Given the description of an element on the screen output the (x, y) to click on. 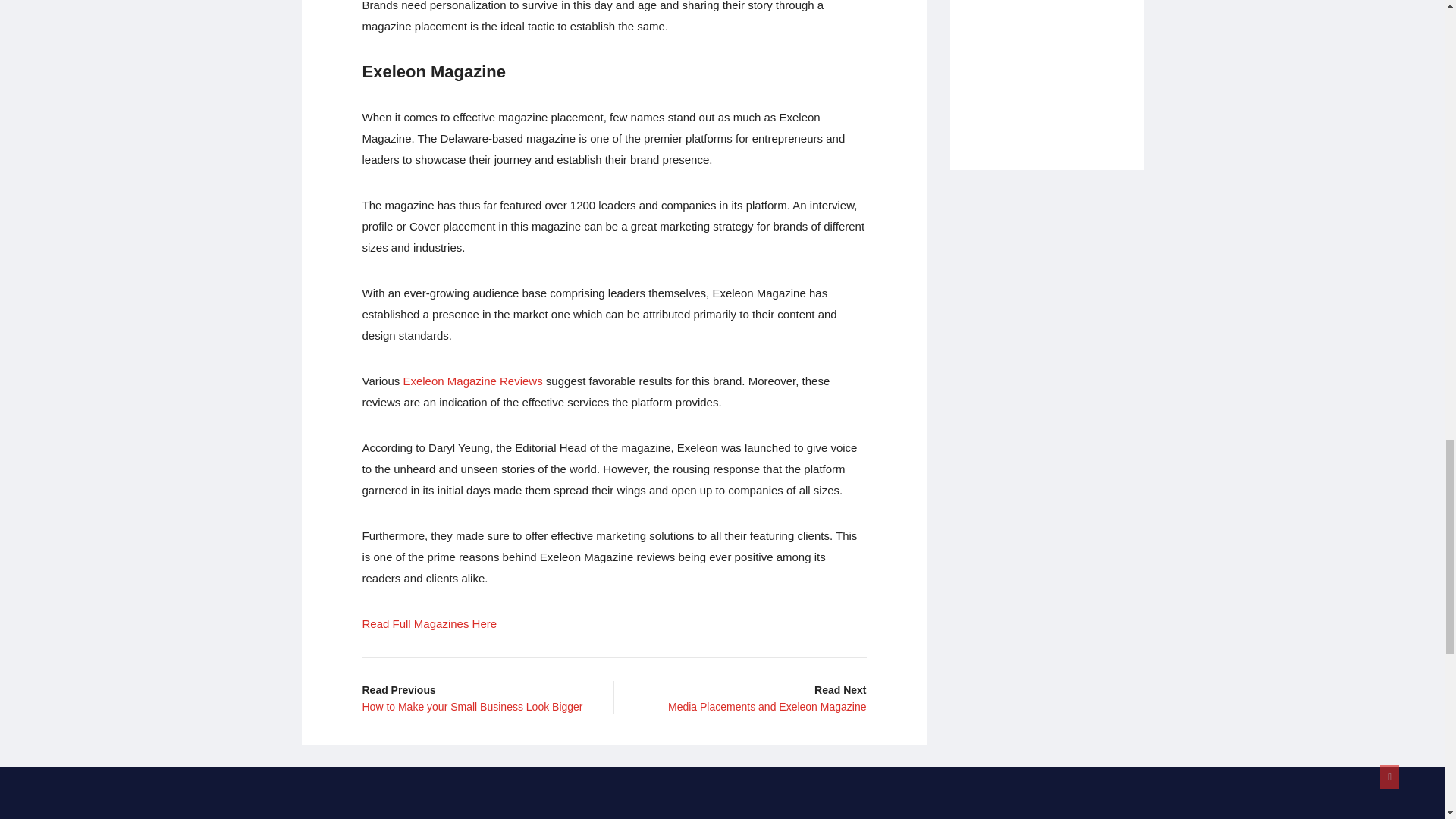
Read Full Magazines Here (429, 623)
Exeleon Magazine Reviews (472, 380)
